Given the description of an element on the screen output the (x, y) to click on. 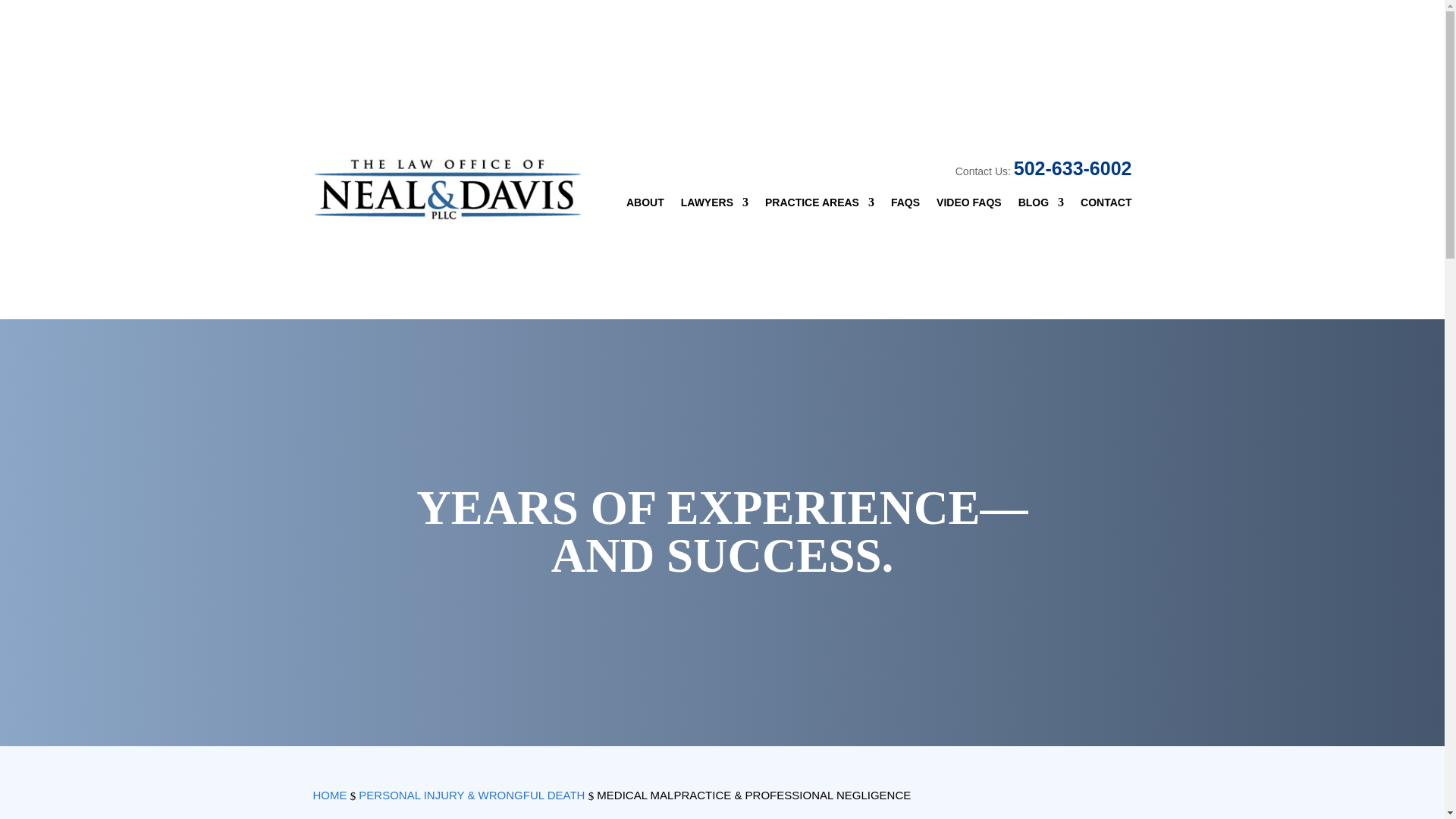
CONTACT (1105, 205)
VIDEO FAQS (968, 205)
502-633-6002 (1072, 168)
logo-new (449, 187)
LAWYERS (714, 205)
FAQS (905, 205)
PRACTICE AREAS (820, 205)
ABOUT (644, 205)
BLOG (1040, 205)
